Given the description of an element on the screen output the (x, y) to click on. 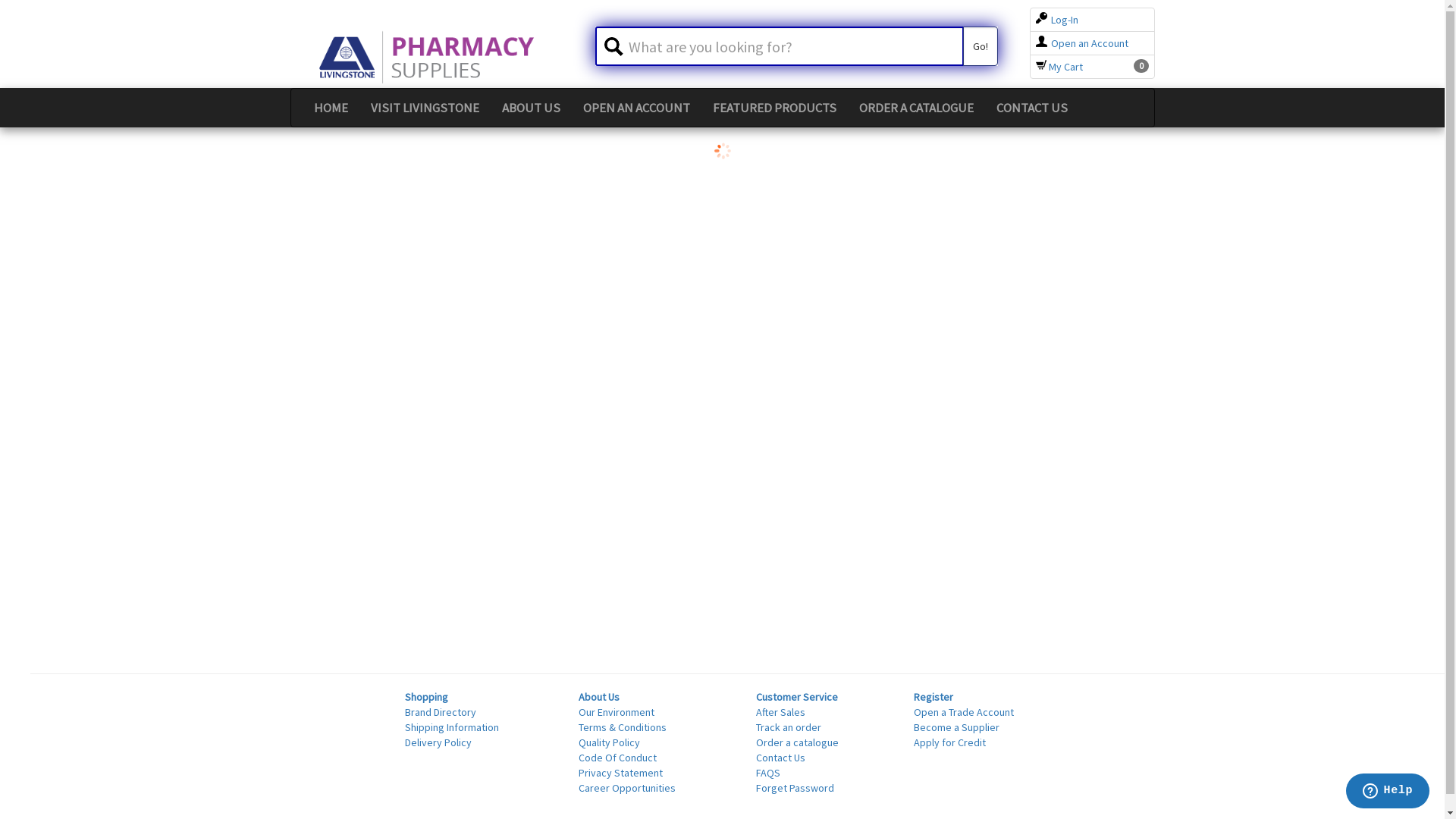
Track an order Element type: text (788, 727)
Open an Account Element type: text (1081, 43)
Brand Directory Element type: text (440, 711)
After Sales Element type: text (780, 711)
Log-In Element type: text (1056, 19)
Terms & Conditions Element type: text (622, 727)
Become a Supplier Element type: text (956, 727)
Register Element type: text (933, 696)
Forget Password Element type: text (795, 787)
Shopping Element type: text (426, 696)
Go! Element type: text (980, 45)
Our Environment Element type: text (616, 711)
CONTACT US Element type: text (1031, 107)
Delivery Policy Element type: text (437, 742)
Customer Service Element type: text (796, 696)
VISIT LIVINGSTONE Element type: text (424, 107)
ABOUT US Element type: text (530, 107)
Career Opportunities Element type: text (626, 787)
Open a Trade Account Element type: text (963, 711)
FAQS Element type: text (768, 772)
About Us Element type: text (598, 696)
FEATURED PRODUCTS Element type: text (773, 107)
Apply for Credit Element type: text (949, 742)
Privacy Statement Element type: text (620, 772)
ORDER A CATALOGUE Element type: text (916, 107)
HOME Element type: text (329, 107)
Code Of Conduct Element type: text (617, 757)
Shipping Information Element type: text (451, 727)
Contact Us Element type: text (780, 757)
Quality Policy Element type: text (609, 742)
OPEN AN ACCOUNT Element type: text (636, 107)
Opens a widget where you can chat to one of our agents Element type: hover (1387, 792)
My Cart Element type: text (1058, 66)
Order a catalogue Element type: text (797, 742)
